Given the description of an element on the screen output the (x, y) to click on. 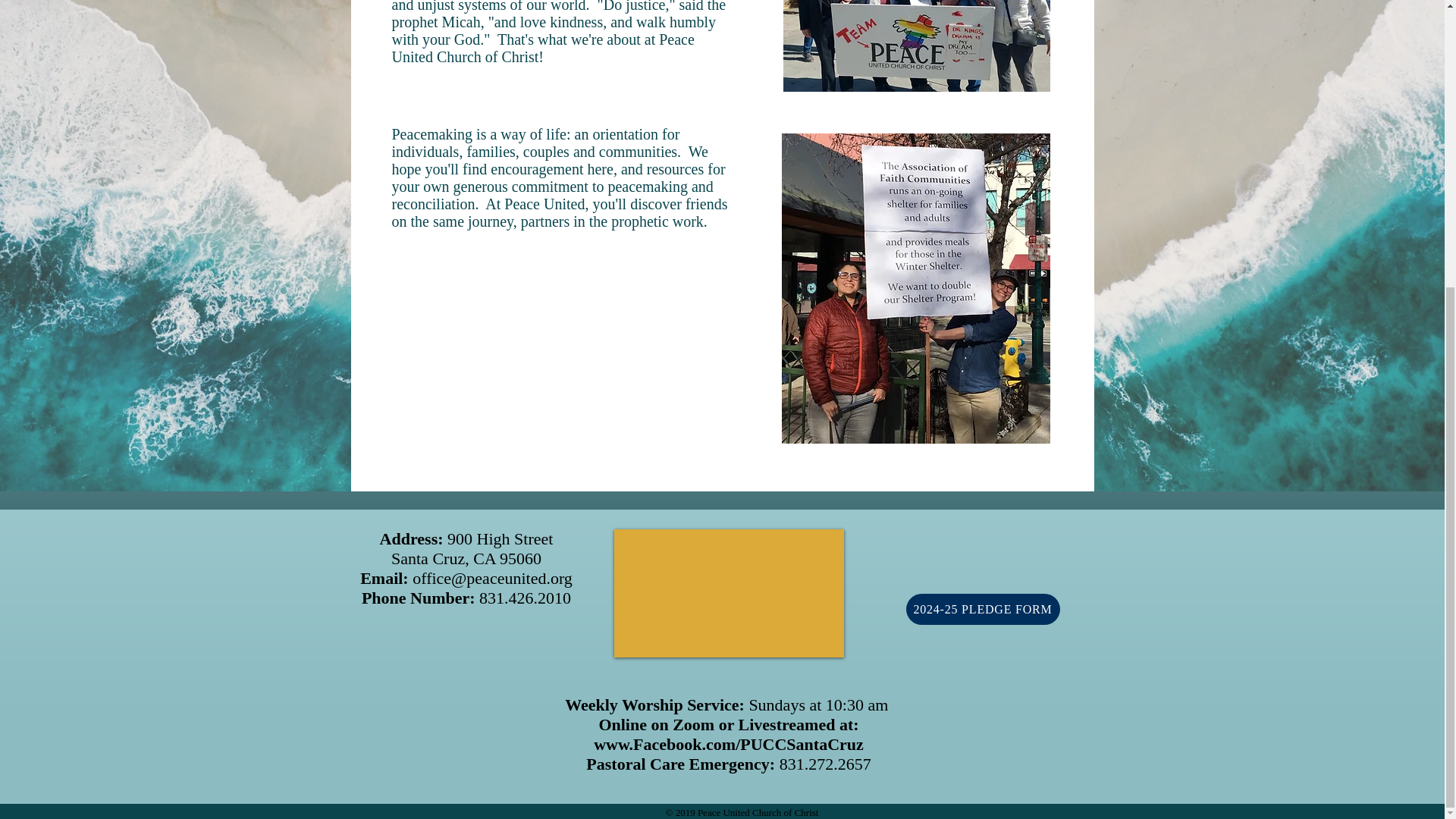
Google Maps (729, 593)
2024-25 PLEDGE FORM (982, 608)
Embedded Content (1002, 574)
